Given the description of an element on the screen output the (x, y) to click on. 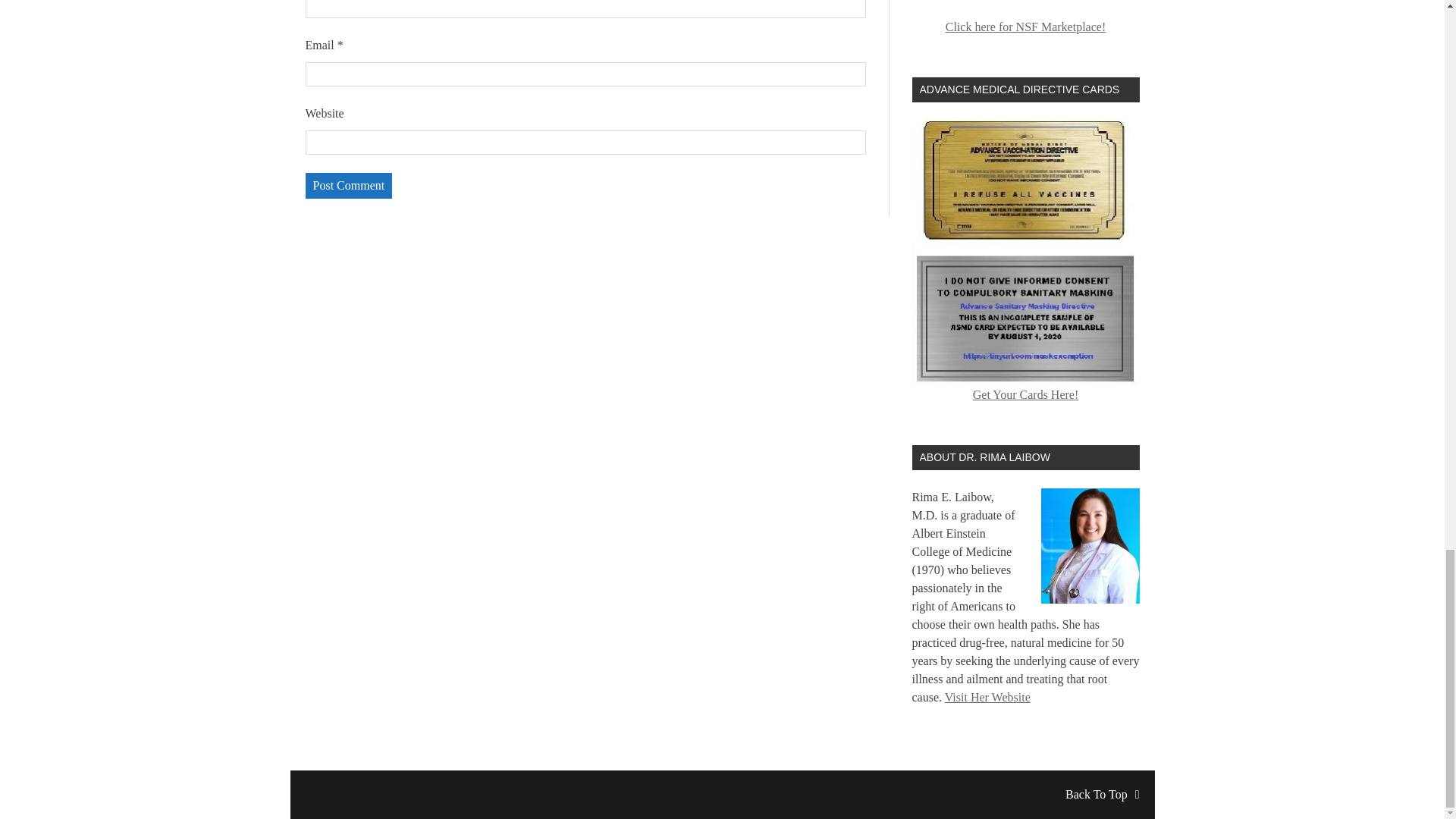
Back to top (1101, 793)
Post Comment (347, 185)
